Given the description of an element on the screen output the (x, y) to click on. 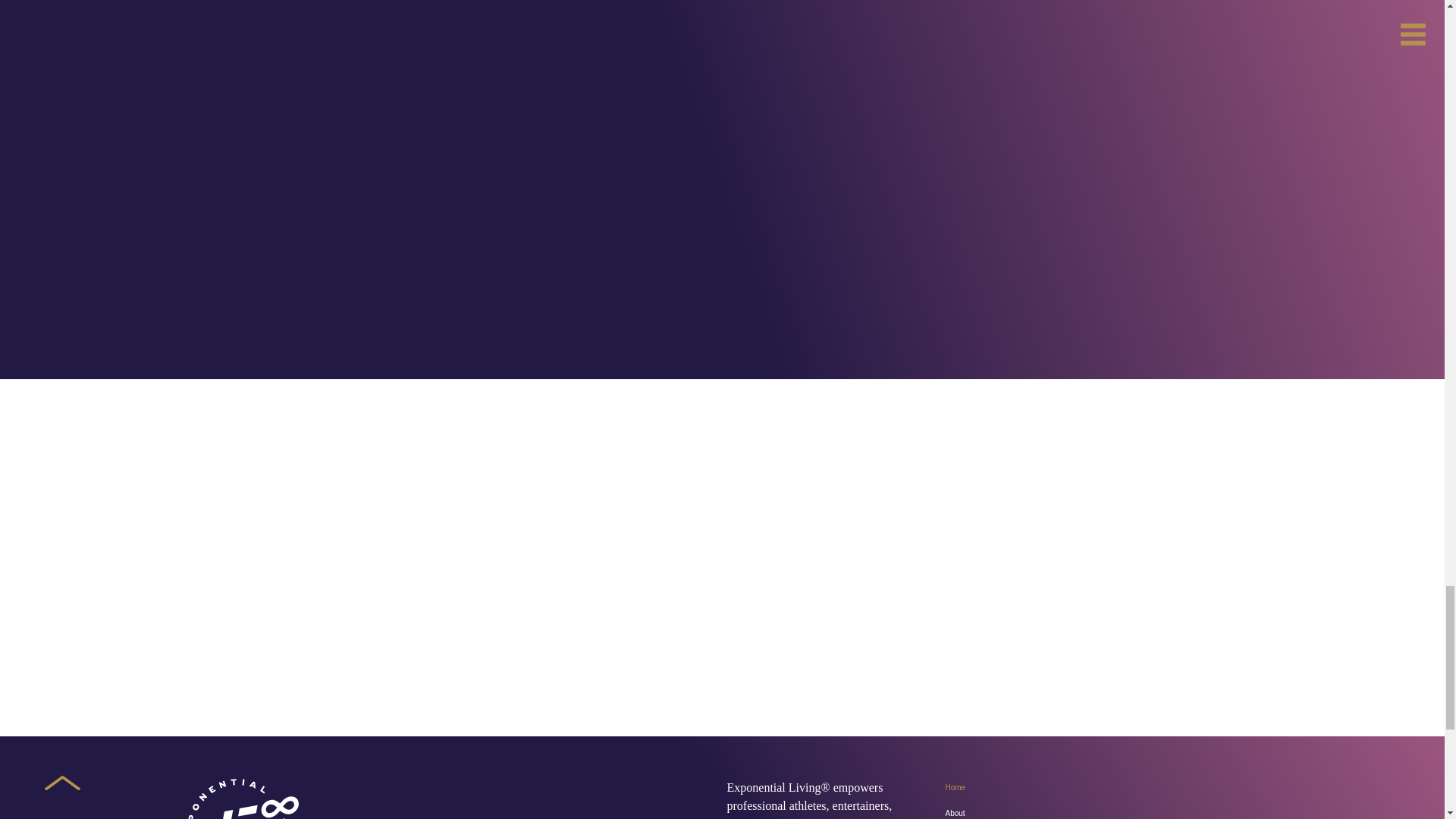
Home (1092, 787)
About (1092, 809)
